Given the description of an element on the screen output the (x, y) to click on. 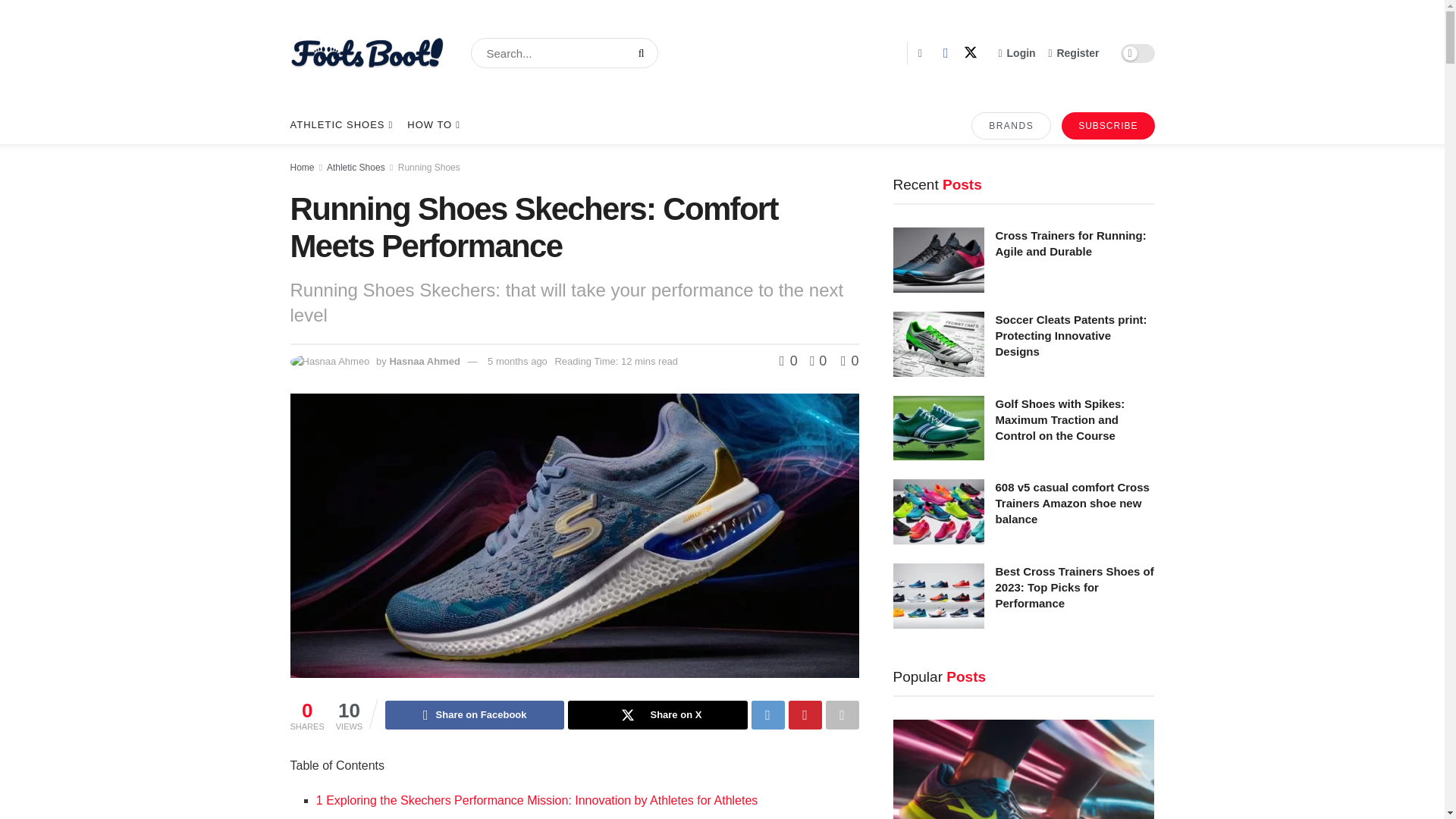
Register (1073, 53)
5 months ago (517, 360)
Home (301, 167)
Running Shoes (428, 167)
Login (1016, 53)
SUBSCRIBE (1107, 125)
Athletic Shoes (355, 167)
HOW TO (432, 125)
0 (790, 360)
ATHLETIC SHOES (339, 125)
Hasnaa Ahmed (424, 360)
BRANDS (1011, 125)
